Given the description of an element on the screen output the (x, y) to click on. 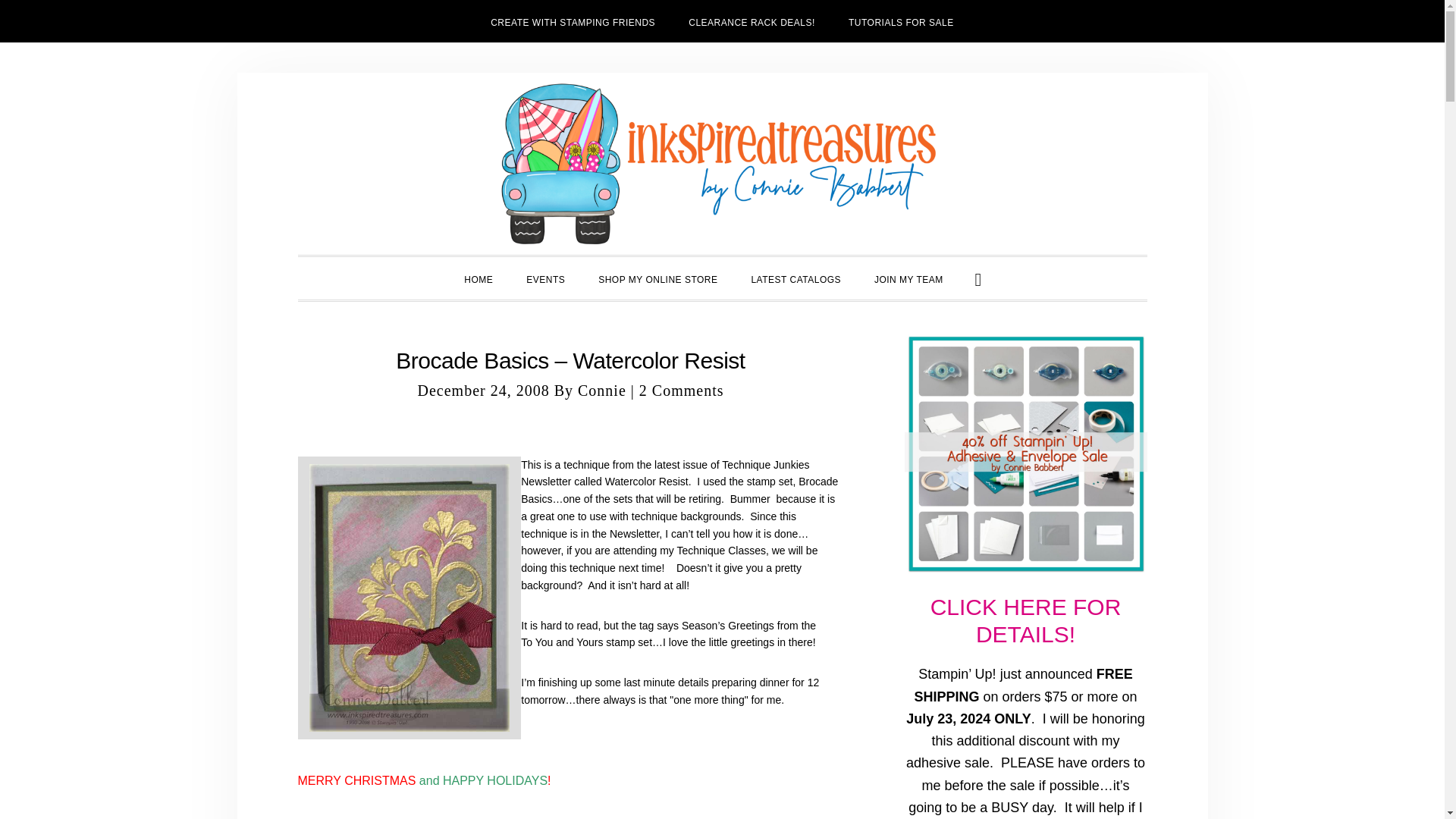
CLEARANCE RACK DEALS! (750, 21)
CLICK HERE FOR DETAILS! (1025, 620)
SHOP MY ONLINE STORE (657, 278)
TUTORIALS FOR SALE (900, 21)
LATEST CATALOGS (795, 278)
Connie (602, 390)
JOIN MY TEAM (908, 278)
EVENTS (545, 278)
CREATE WITH STAMPING FRIENDS (572, 21)
2 Comments (681, 390)
HOME (478, 278)
